Given the description of an element on the screen output the (x, y) to click on. 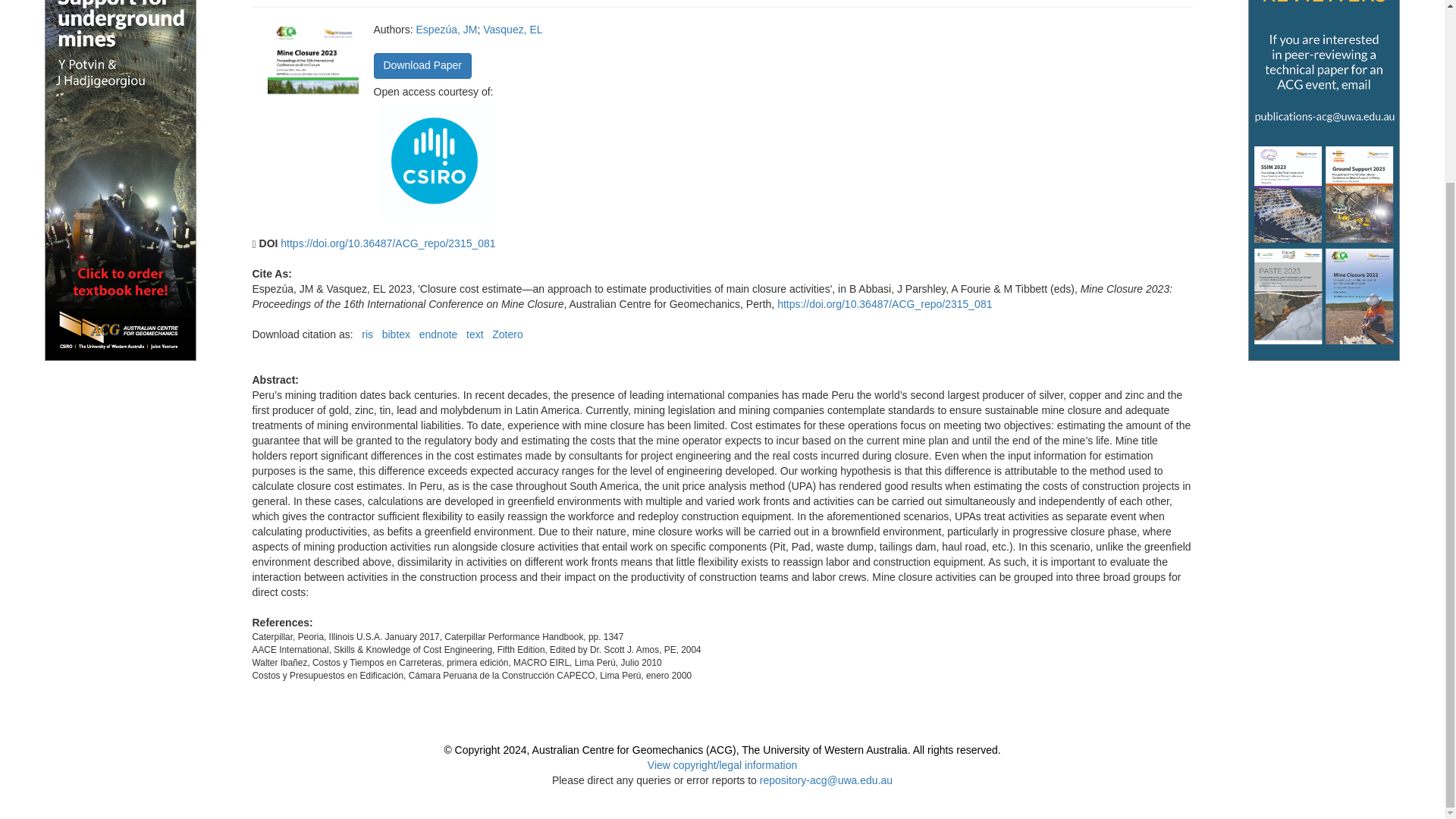
bibtex (395, 334)
Zotero (507, 334)
CSIRO (433, 160)
endnote (438, 334)
Vasquez, EL (512, 29)
ris (366, 334)
Download Paper (421, 65)
text (474, 334)
